Given the description of an element on the screen output the (x, y) to click on. 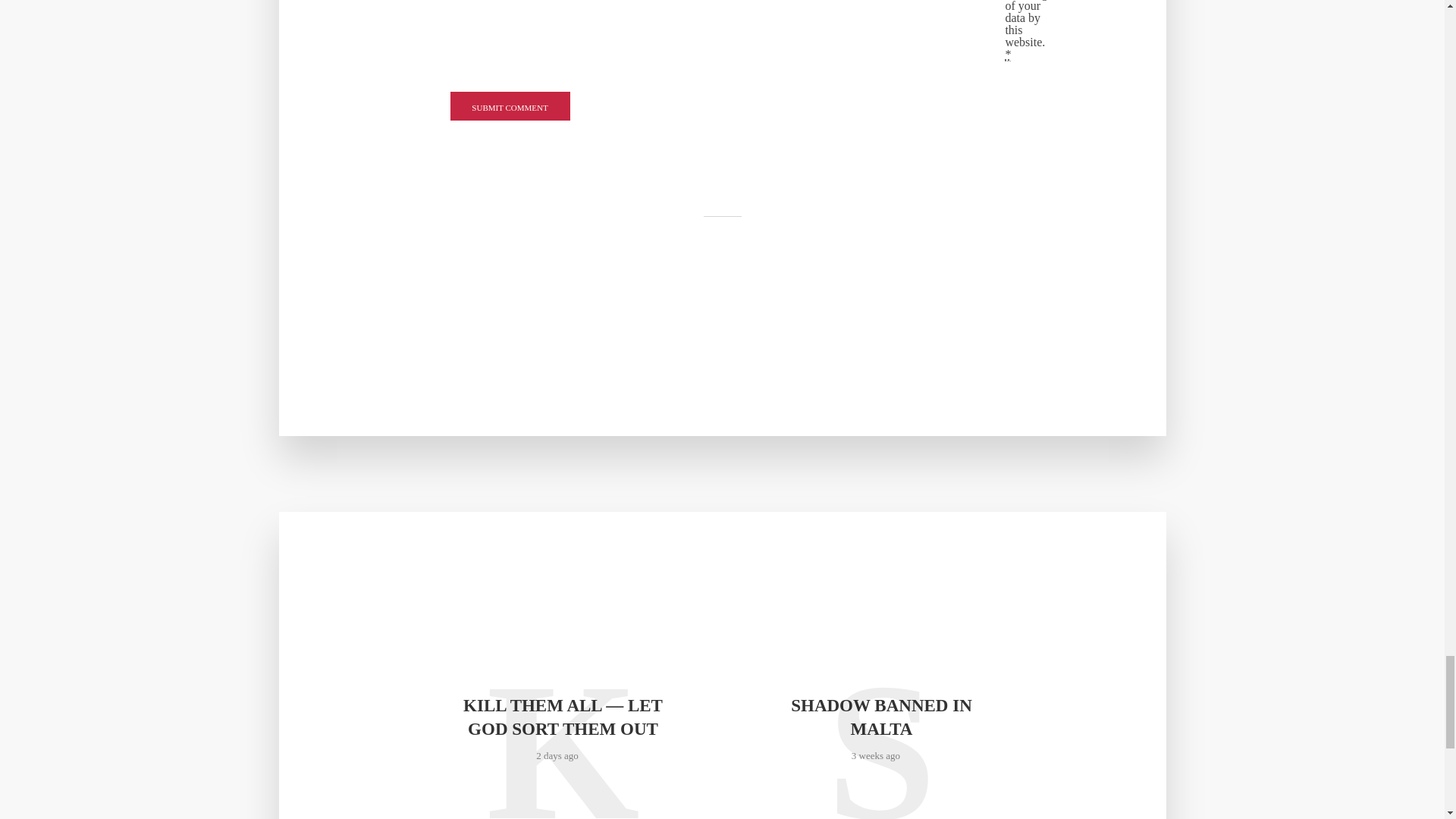
Submit Comment (509, 105)
SHADOW BANNED IN MALTA (880, 717)
Submit Comment (509, 105)
